Given the description of an element on the screen output the (x, y) to click on. 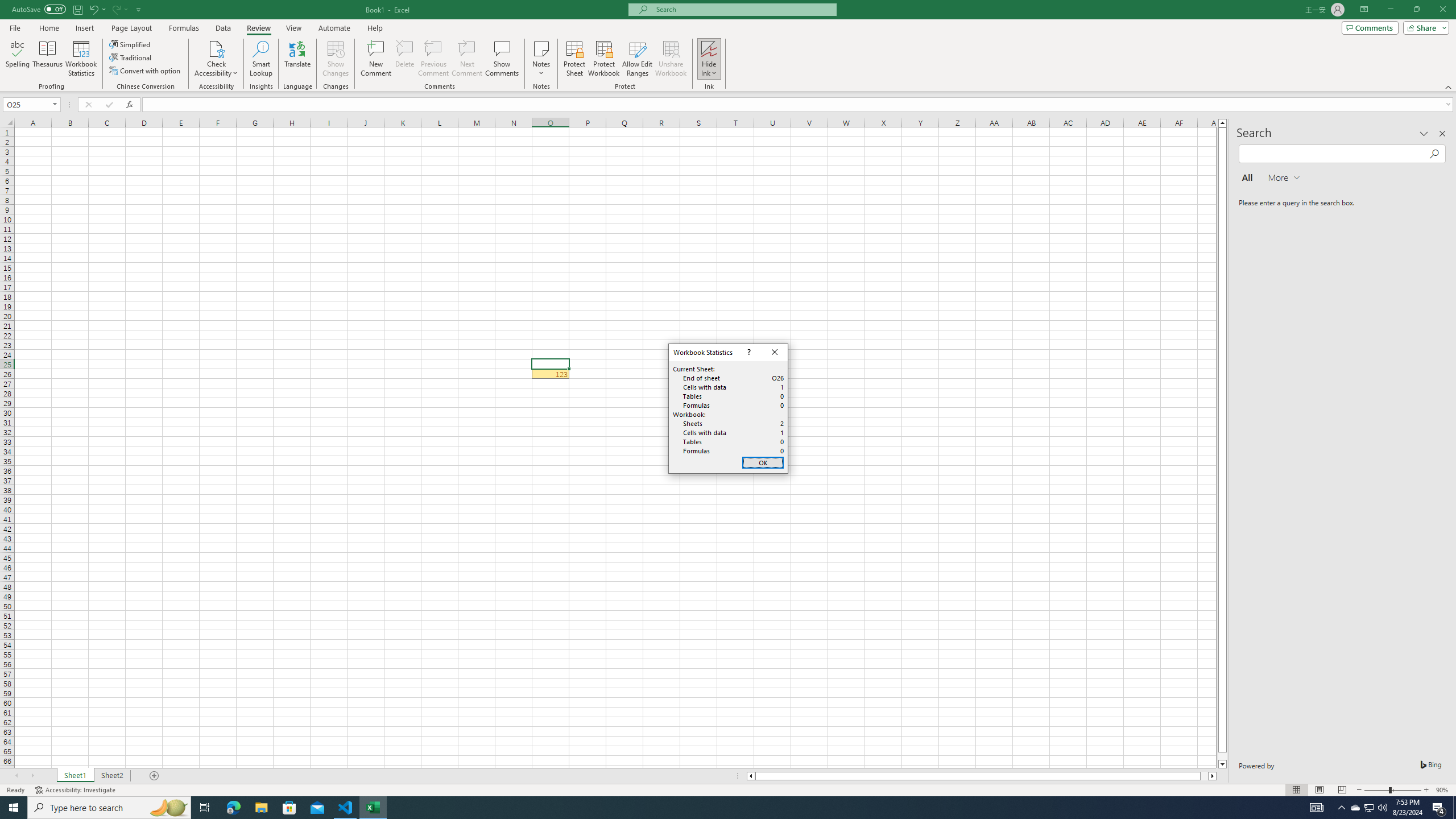
Context help (748, 352)
Protect Workbook... (603, 58)
Visual Studio Code - 1 running window (345, 807)
Next Comment (466, 58)
File Explorer (261, 807)
